Given the description of an element on the screen output the (x, y) to click on. 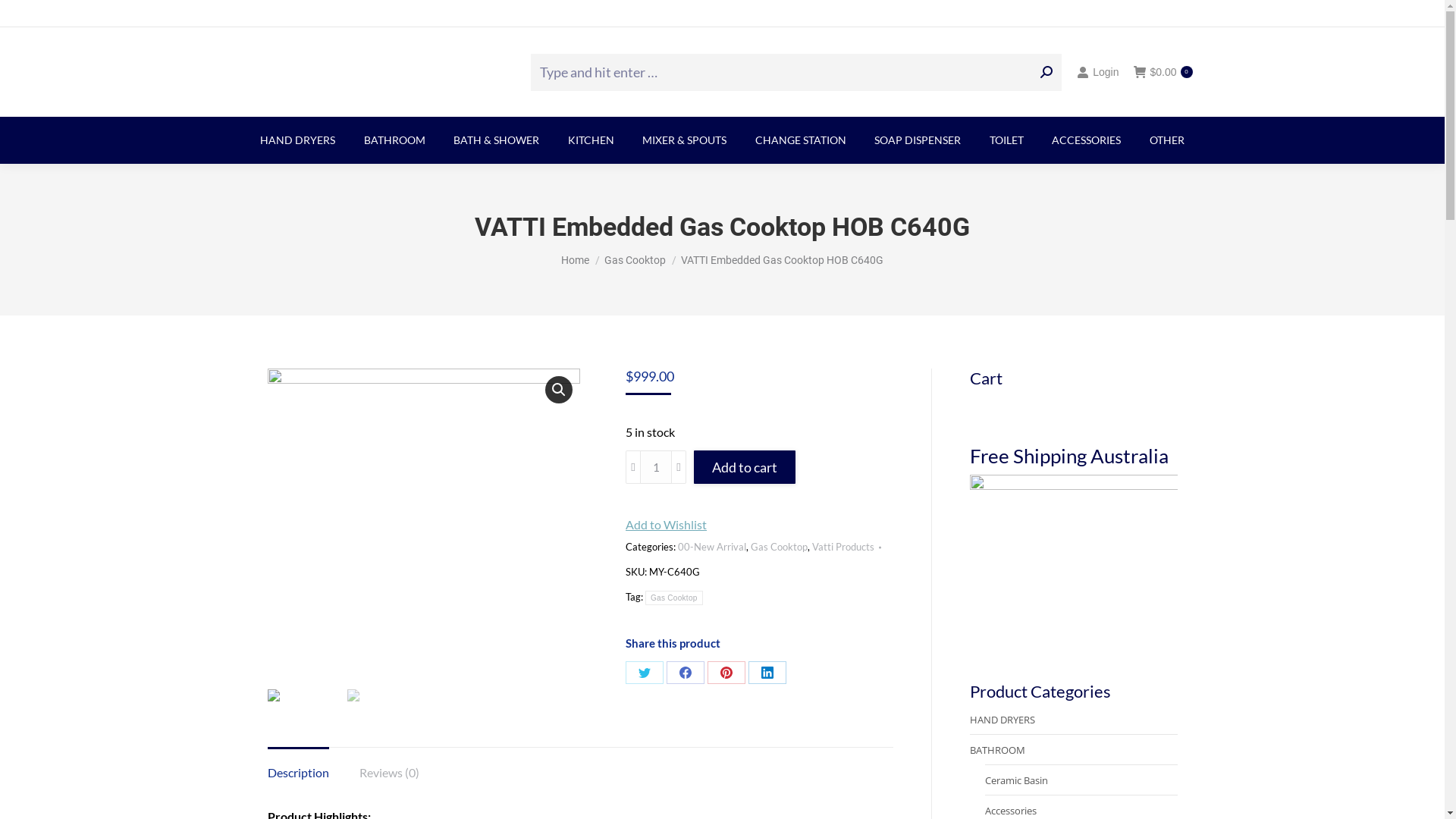
OTHER Element type: text (1166, 140)
Login Element type: text (1097, 71)
Share on LinkedIn Element type: text (767, 672)
TOILET Element type: text (1006, 140)
Share on Facebook Element type: text (685, 672)
Add to cart Element type: text (744, 466)
00-New Arrival Element type: text (711, 546)
Accessories Element type: text (1009, 810)
ACCESSORIES Element type: text (1086, 140)
BATHROOM Element type: text (394, 140)
Gas Cooktop Element type: text (673, 597)
SOAP DISPENSER Element type: text (917, 140)
Ceramic Basin Element type: text (1015, 779)
Vatti Products Element type: text (843, 546)
KITCHEN Element type: text (590, 140)
MIXER & SPOUTS Element type: text (683, 140)
HAND DRYERS Element type: text (297, 140)
Search form Element type: hover (795, 71)
Share on Twitter Element type: text (644, 672)
Featured-VATTI-Embedded-Gas-Cooktop-HOB-C640 Element type: hover (423, 524)
HAND DRYERS Element type: text (1001, 719)
Home Element type: text (575, 260)
$0.00
0 Element type: text (1162, 71)
Add to Wishlist Element type: text (665, 524)
CHANGE STATION Element type: text (800, 140)
BATHROOM Element type: text (996, 749)
Gas Cooktop Element type: text (778, 546)
BATH & SHOWER Element type: text (496, 140)
Reviews (0) Element type: text (389, 771)
Gas Cooktop Element type: text (634, 260)
Share on Pinterest Element type: text (726, 672)
Description Element type: text (297, 771)
Go! Element type: text (23, 16)
